Given the description of an element on the screen output the (x, y) to click on. 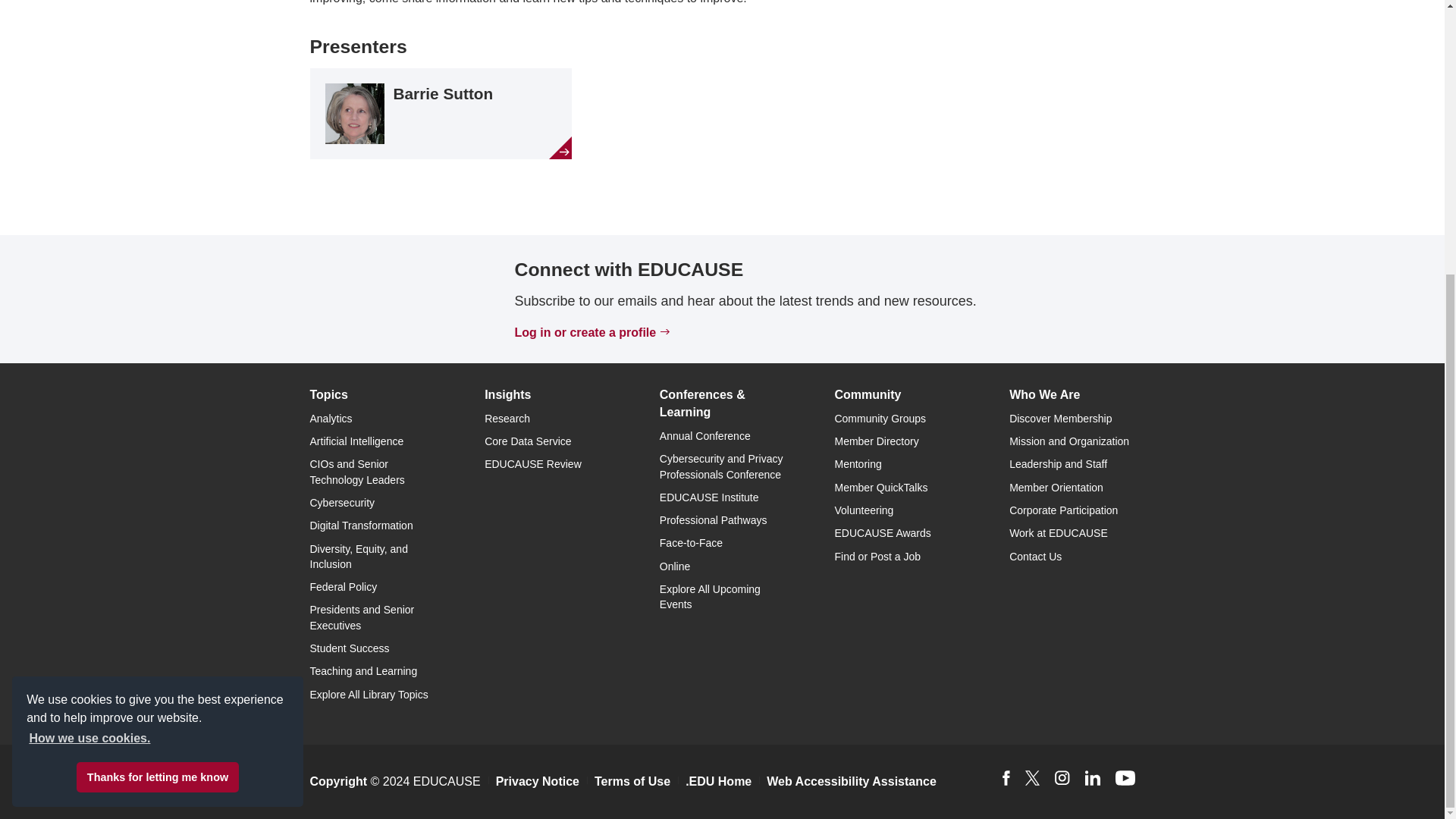
Analytics (330, 418)
Thanks for letting me know (157, 372)
Cybersecurity (341, 502)
Log in or create a profile (584, 332)
Research (506, 418)
EDUCAUSE Review (532, 463)
Explore All Library Topics (368, 694)
Student Success (348, 648)
Educause.edu (384, 297)
Diversity, Equity, and Inclusion (357, 556)
Presidents and Senior Executives (360, 616)
EDUCAUSE Institute (708, 497)
EDUCAUSE (384, 298)
EDUCAUSE (384, 297)
Cybersecurity and Privacy Professionals Conference (721, 465)
